Given the description of an element on the screen output the (x, y) to click on. 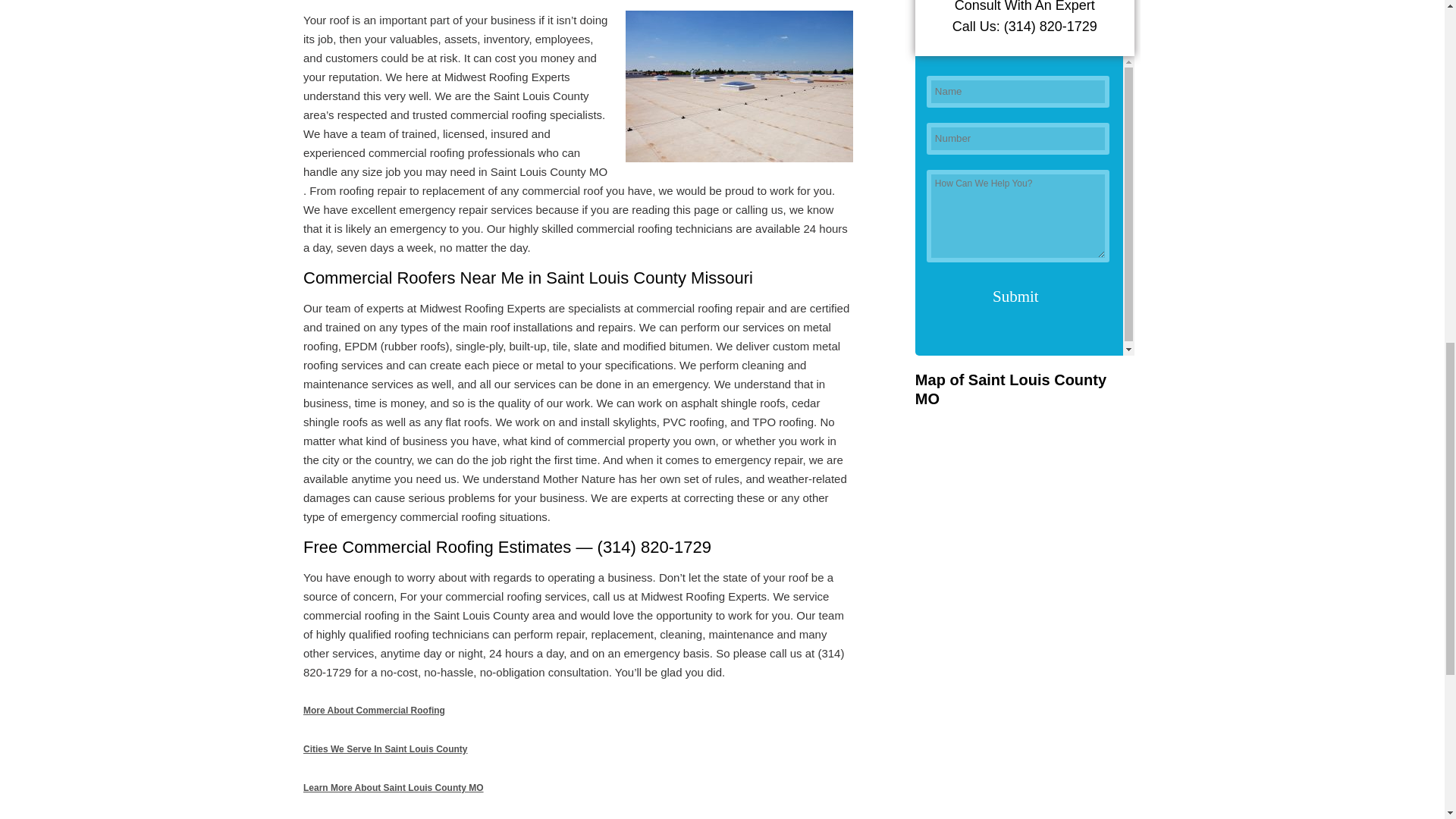
Learn More About Saint Louis County MO (392, 787)
Submit (1015, 296)
Cities We Serve In Saint Louis County (384, 748)
More About Commercial Roofing (373, 710)
Submit (1015, 296)
